Given the description of an element on the screen output the (x, y) to click on. 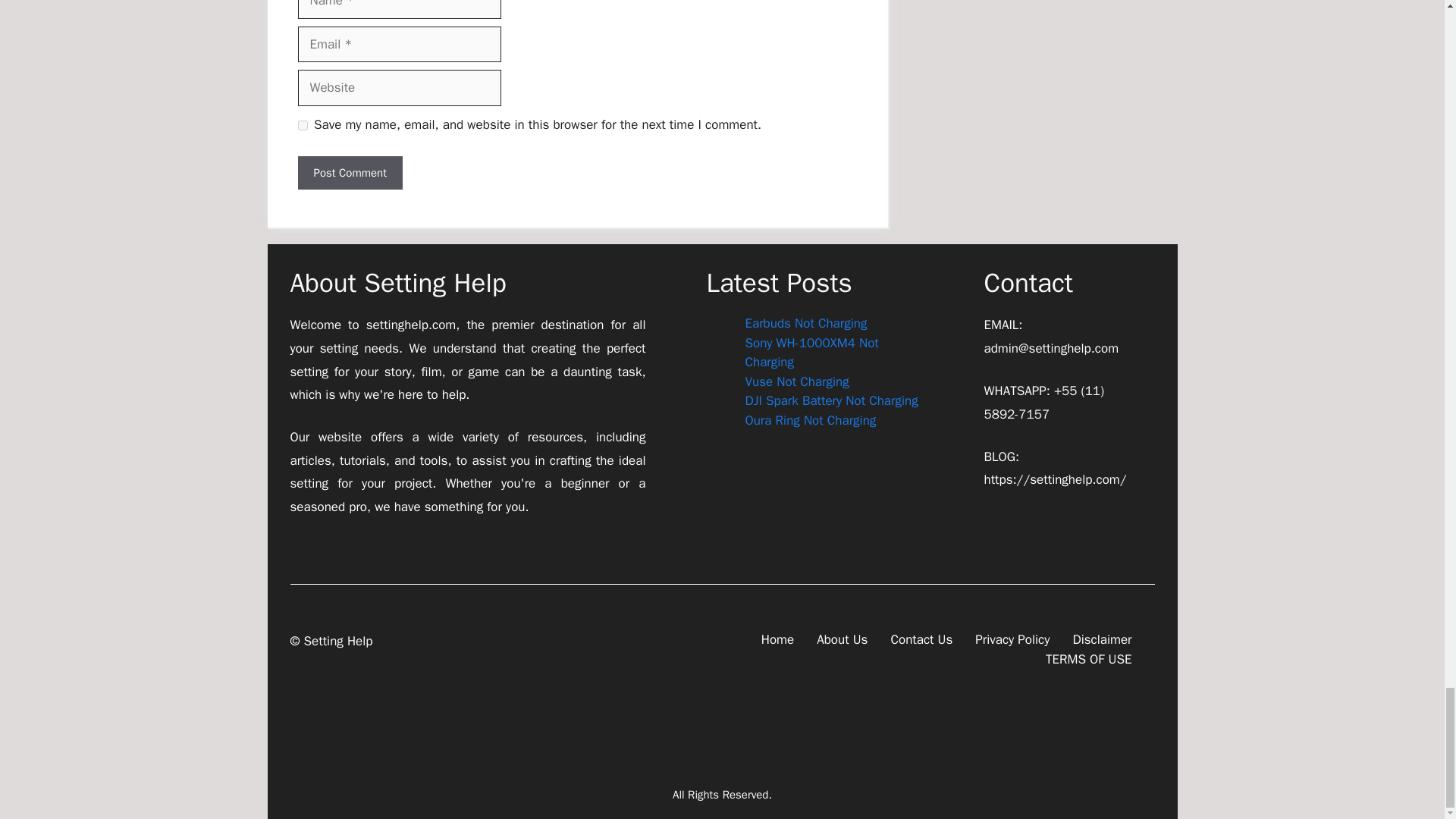
yes (302, 125)
Post Comment (349, 173)
